Given the description of an element on the screen output the (x, y) to click on. 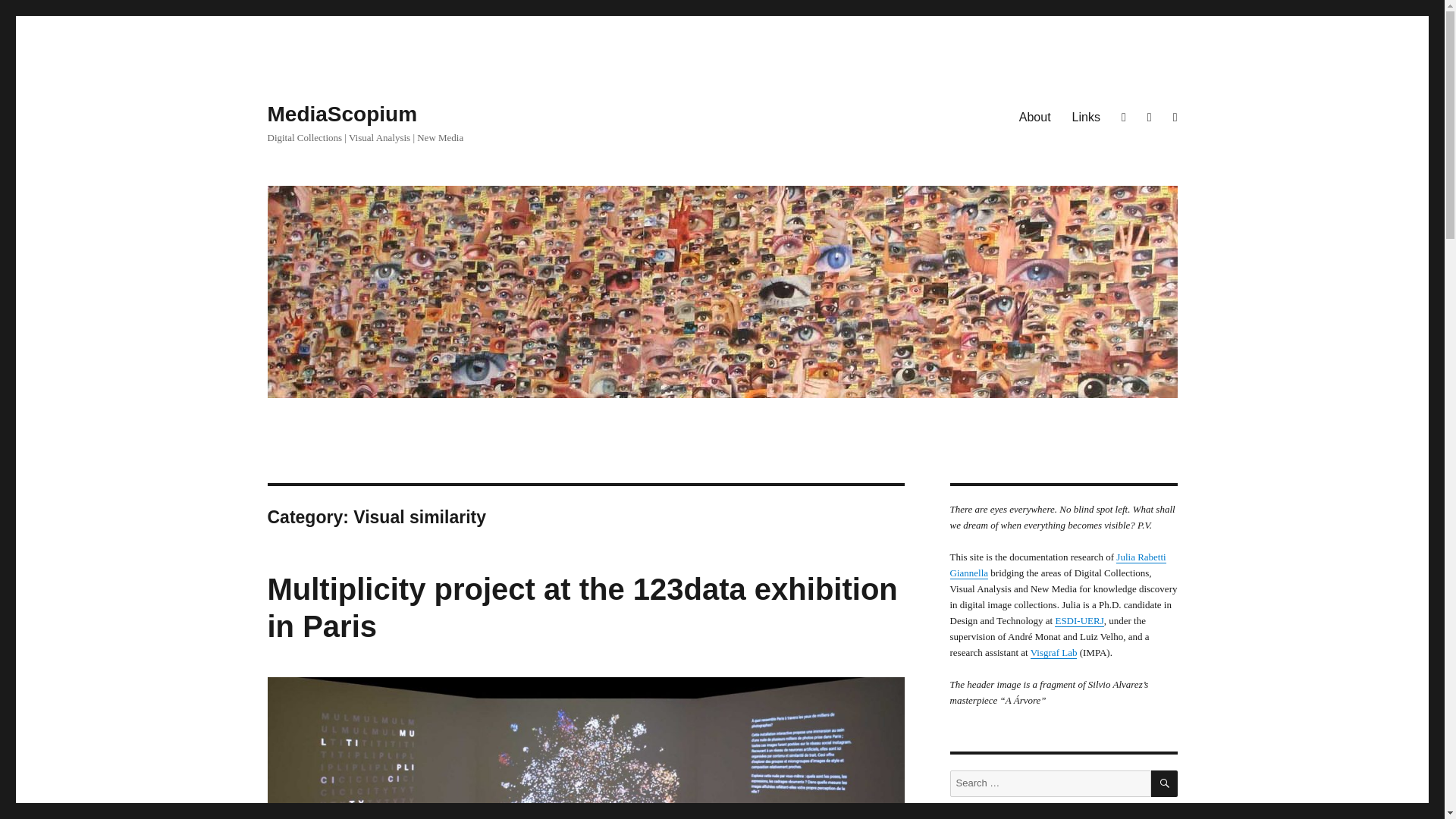
Multiplicity project at the 123data exhibition in Paris (581, 607)
Links (1085, 116)
ESDI-UERJ (1078, 620)
MediaScopium (341, 114)
Julia Rabetti Giannella (1057, 564)
SEARCH (1164, 783)
About (1035, 116)
Visgraf Lab (1053, 652)
